Given the description of an element on the screen output the (x, y) to click on. 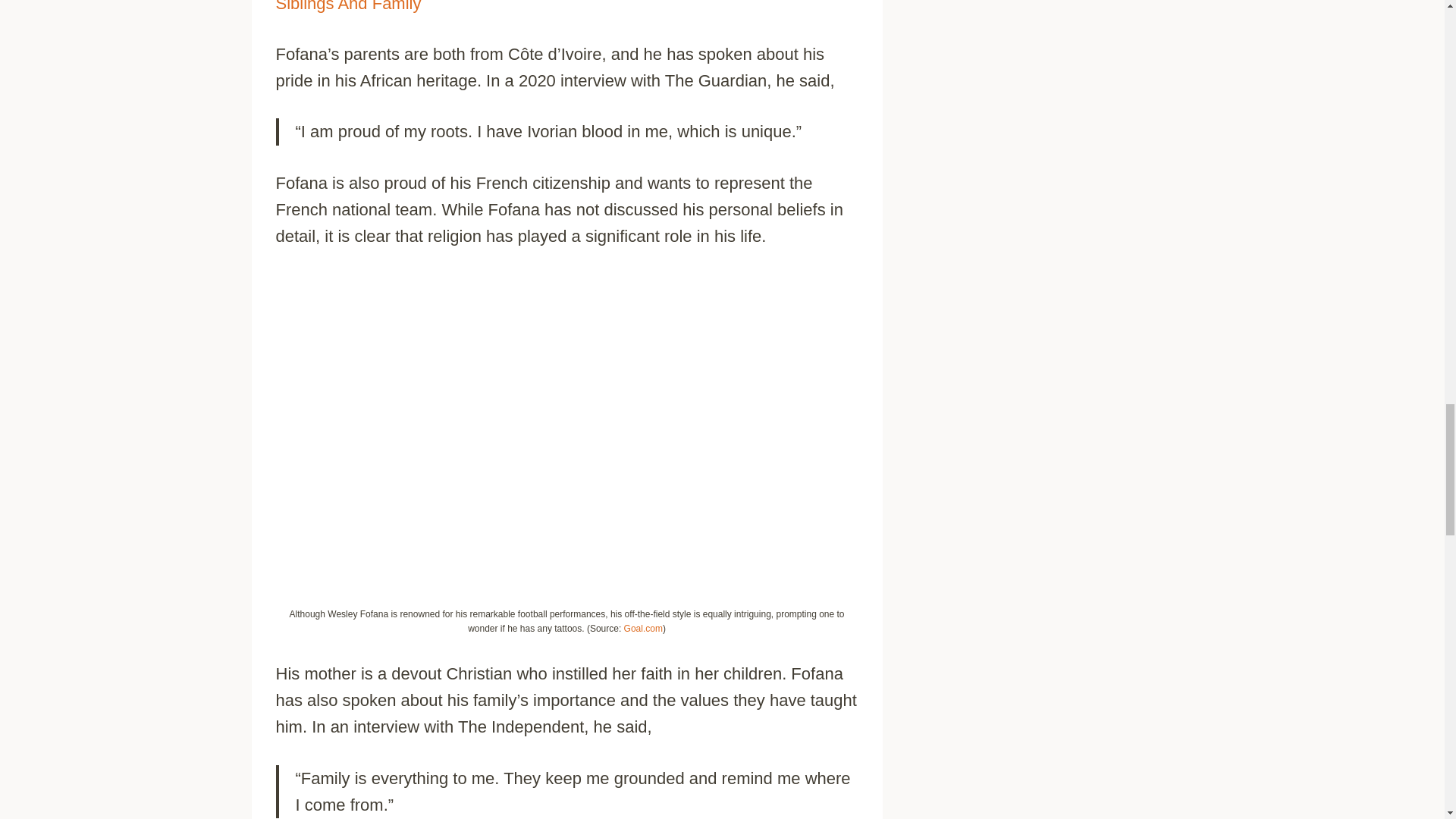
Goal.com (643, 628)
